Given the description of an element on the screen output the (x, y) to click on. 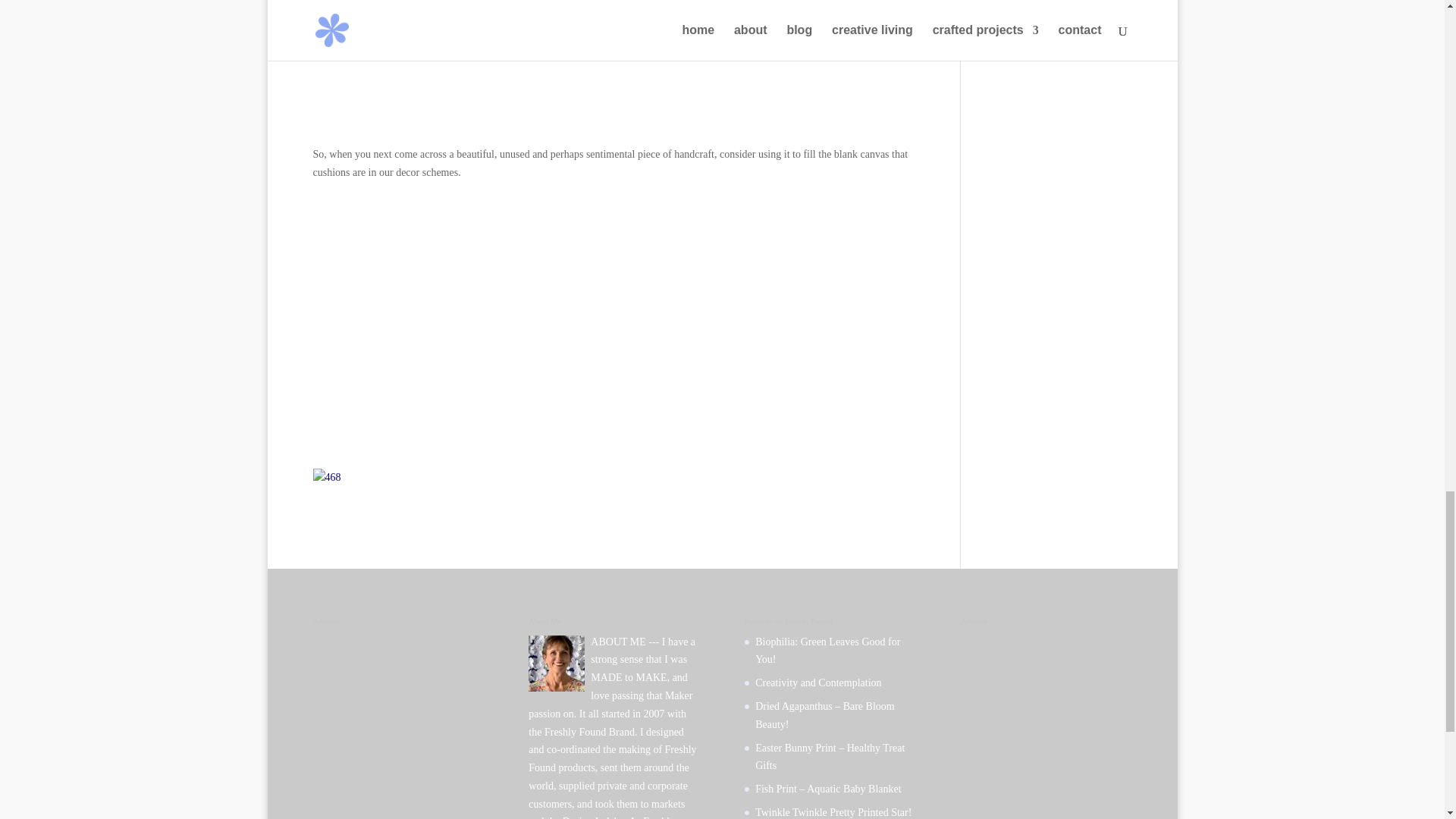
Biophilia: Green Leaves Good for You! (827, 650)
